Given the description of an element on the screen output the (x, y) to click on. 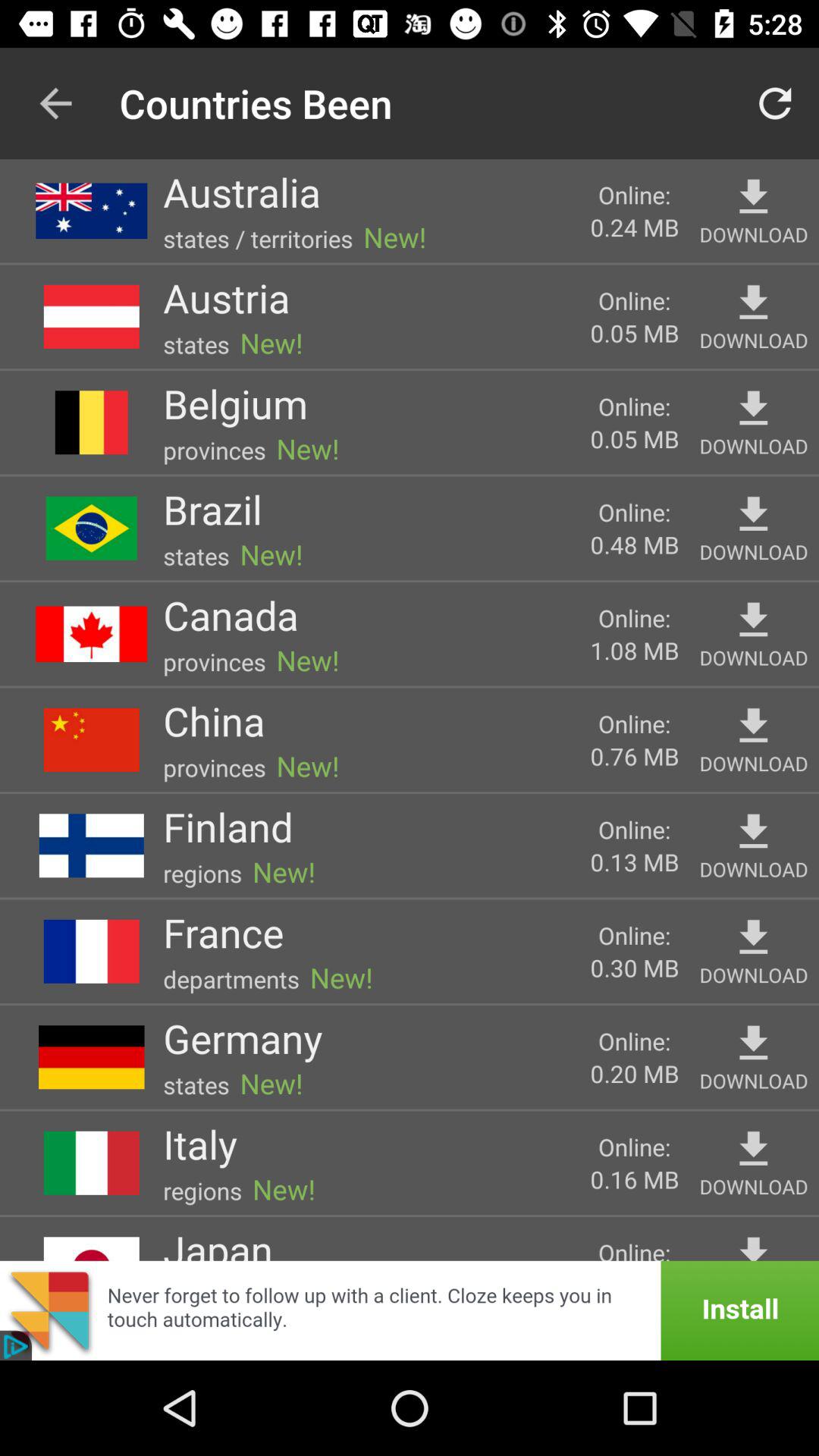
jump to the brazil (212, 508)
